Given the description of an element on the screen output the (x, y) to click on. 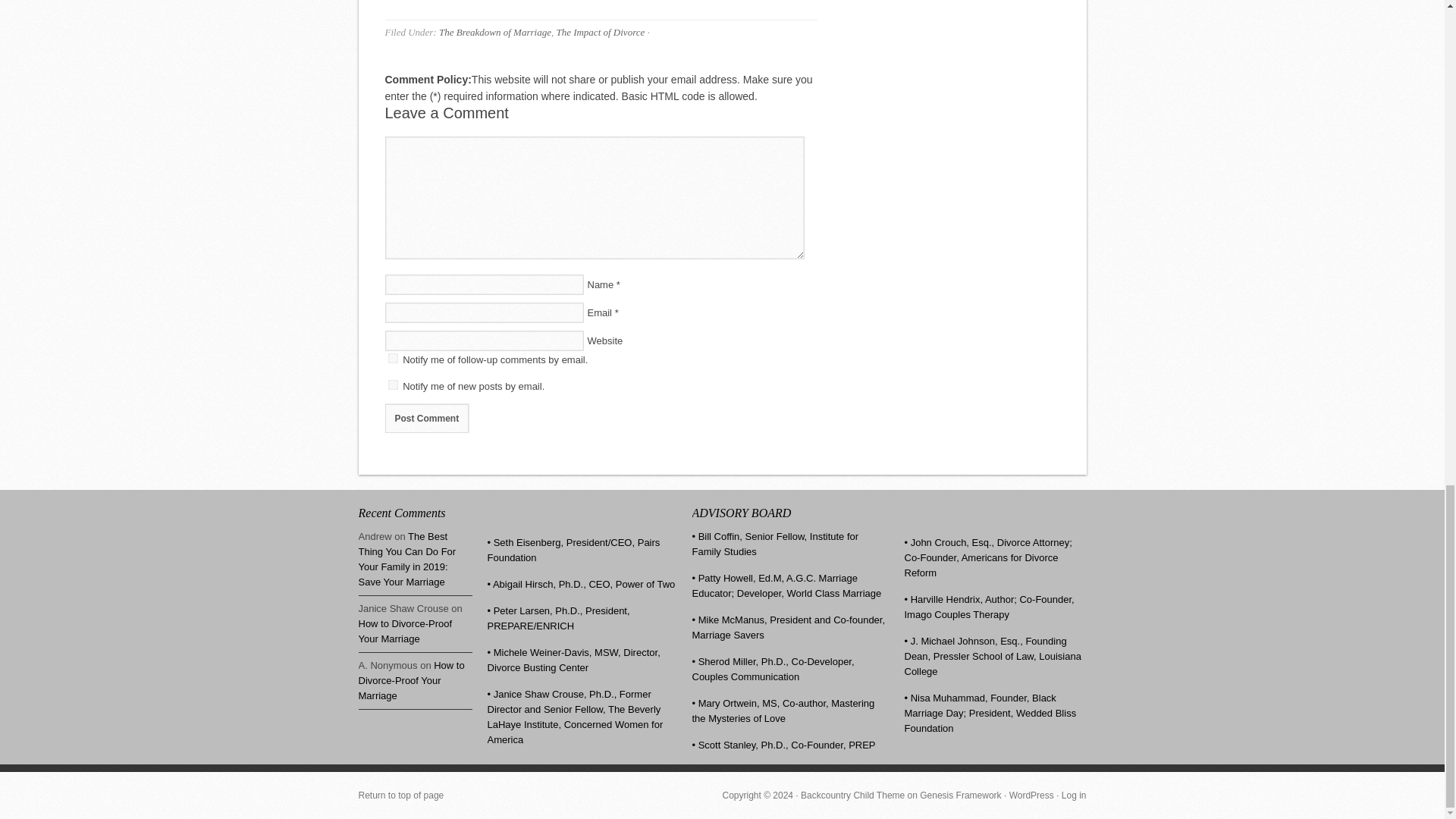
subscribe (392, 384)
Post Comment (426, 418)
subscribe (392, 357)
